Given the description of an element on the screen output the (x, y) to click on. 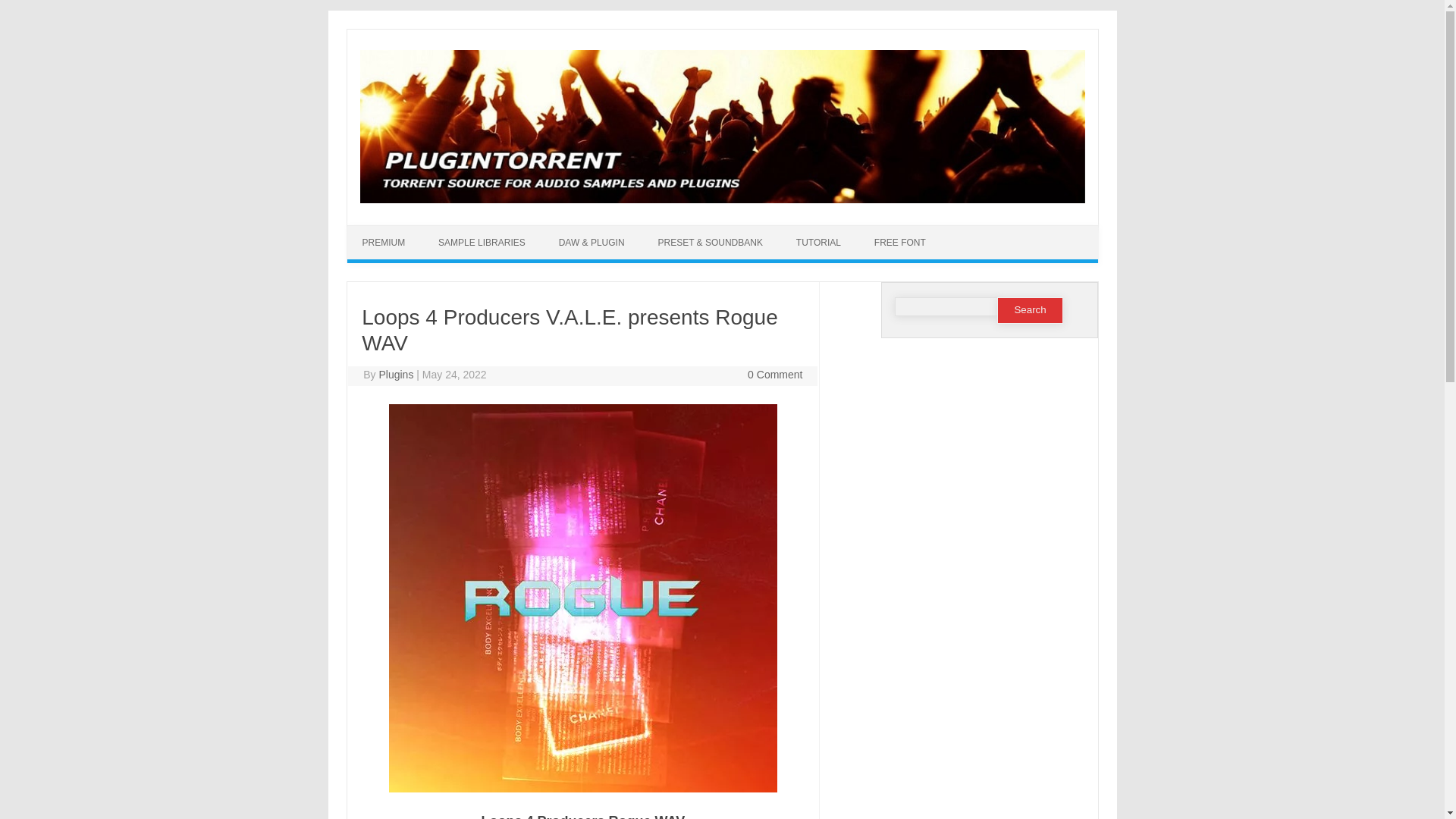
Posts by Plugins (395, 374)
SAMPLE LIBRARIES (481, 242)
Search (1029, 310)
Search (1029, 310)
0 Comment (775, 374)
PREMIUM (383, 242)
TUTORIAL (818, 242)
FREE FONT (899, 242)
Plugintorrent (721, 199)
Skip to content (757, 230)
Plugins (395, 374)
Skip to content (757, 230)
